Given the description of an element on the screen output the (x, y) to click on. 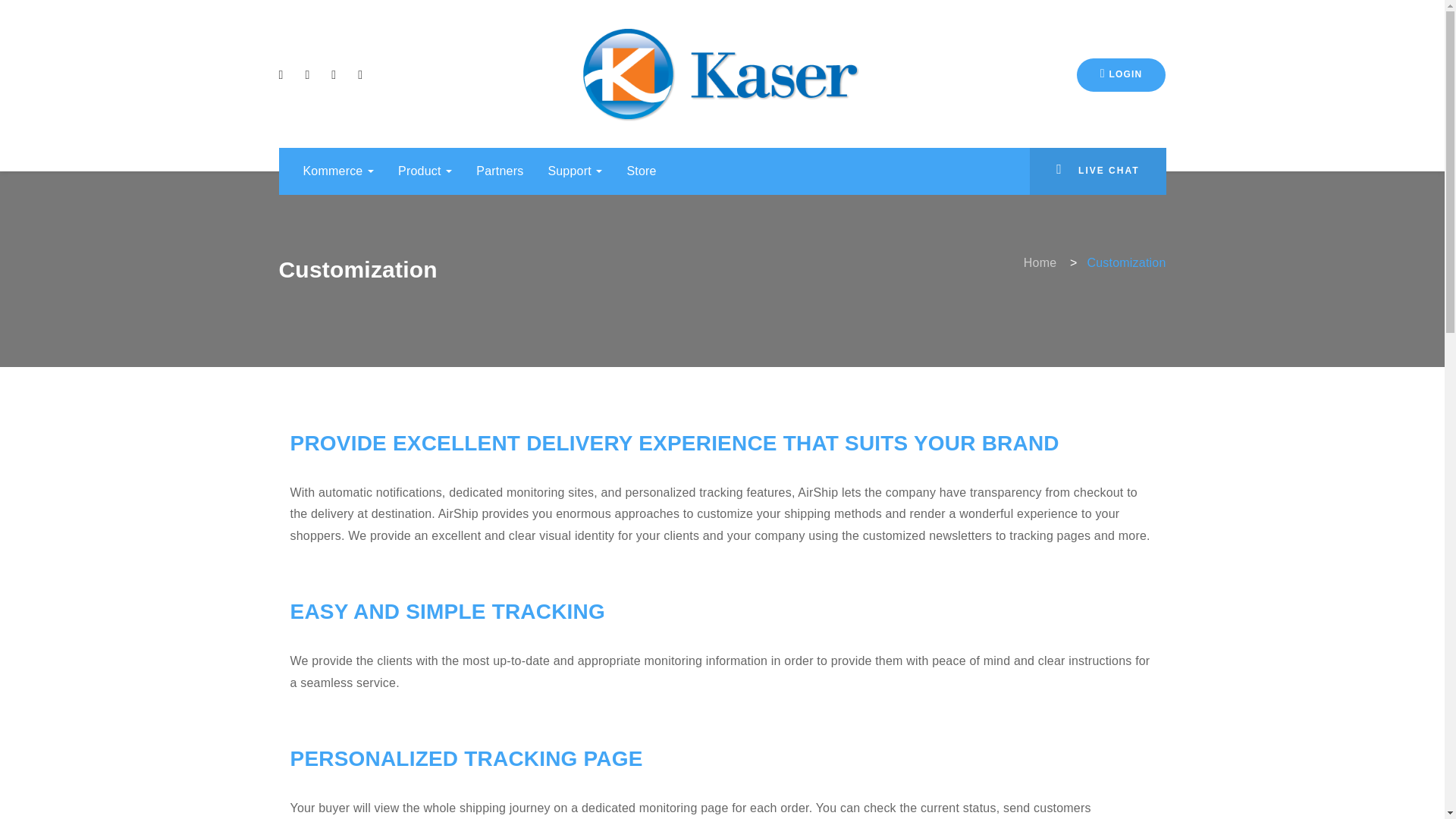
Support (574, 171)
Product (424, 171)
Home (1040, 261)
LIVE CHAT (1097, 170)
LOGIN (1121, 74)
Partners (499, 171)
Store (641, 171)
Kommerce (339, 171)
